Given the description of an element on the screen output the (x, y) to click on. 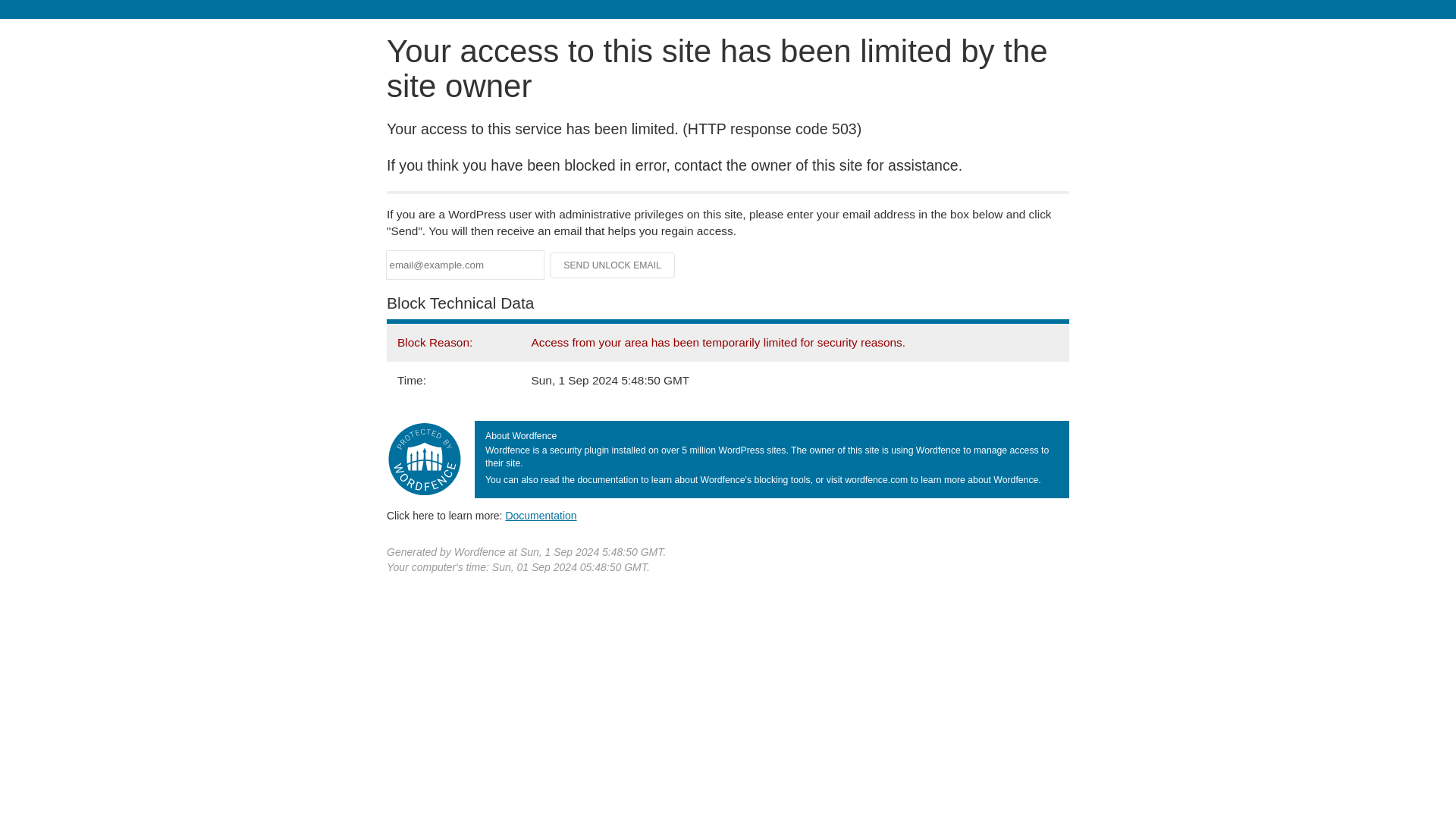
Send Unlock Email (612, 265)
Documentation (540, 515)
Send Unlock Email (612, 265)
